Given the description of an element on the screen output the (x, y) to click on. 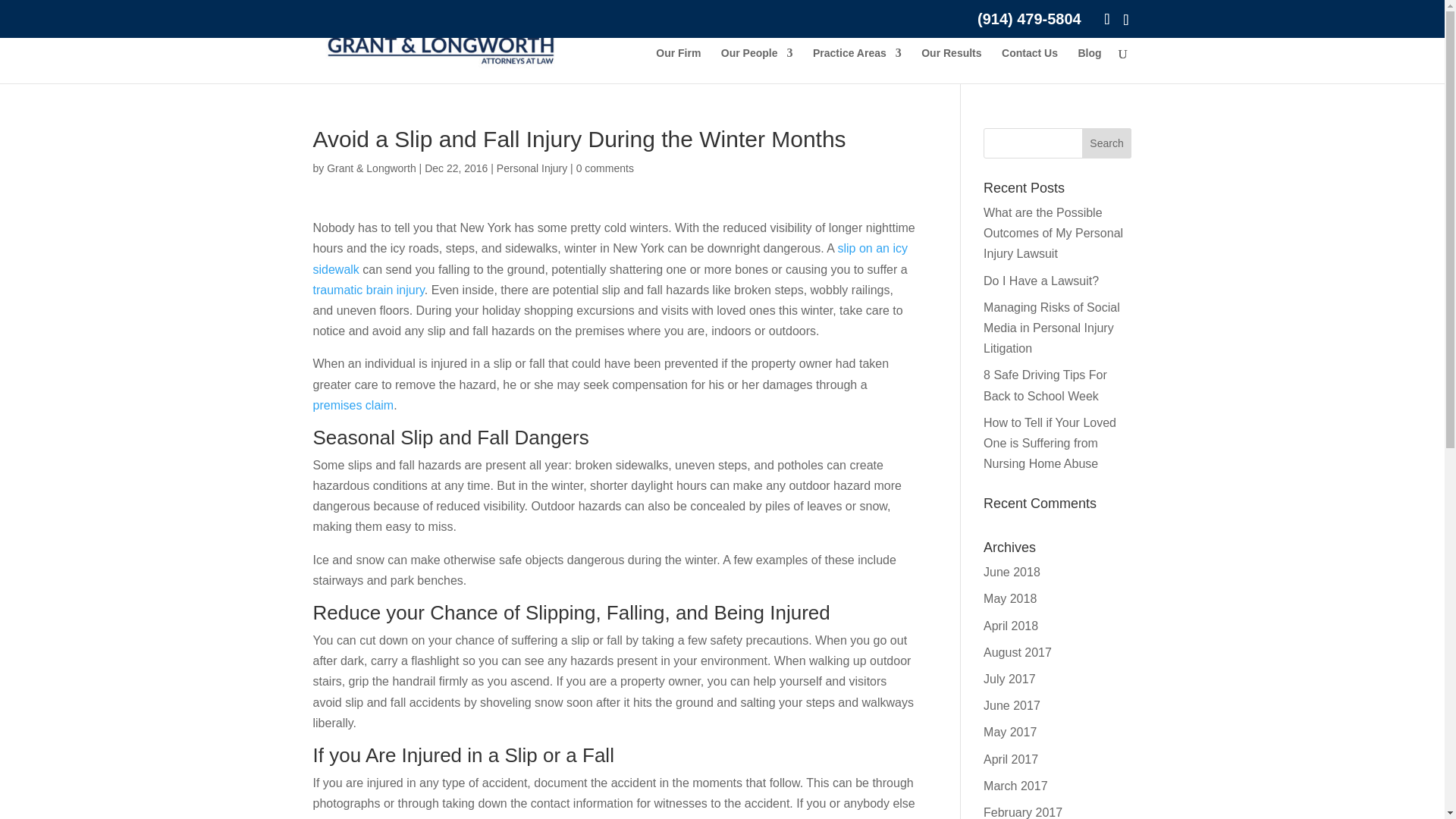
Our Firm (678, 65)
Search (1106, 142)
Practice Areas (856, 65)
Our People (756, 65)
Our Results (951, 65)
Contact Us (1029, 65)
